Given the description of an element on the screen output the (x, y) to click on. 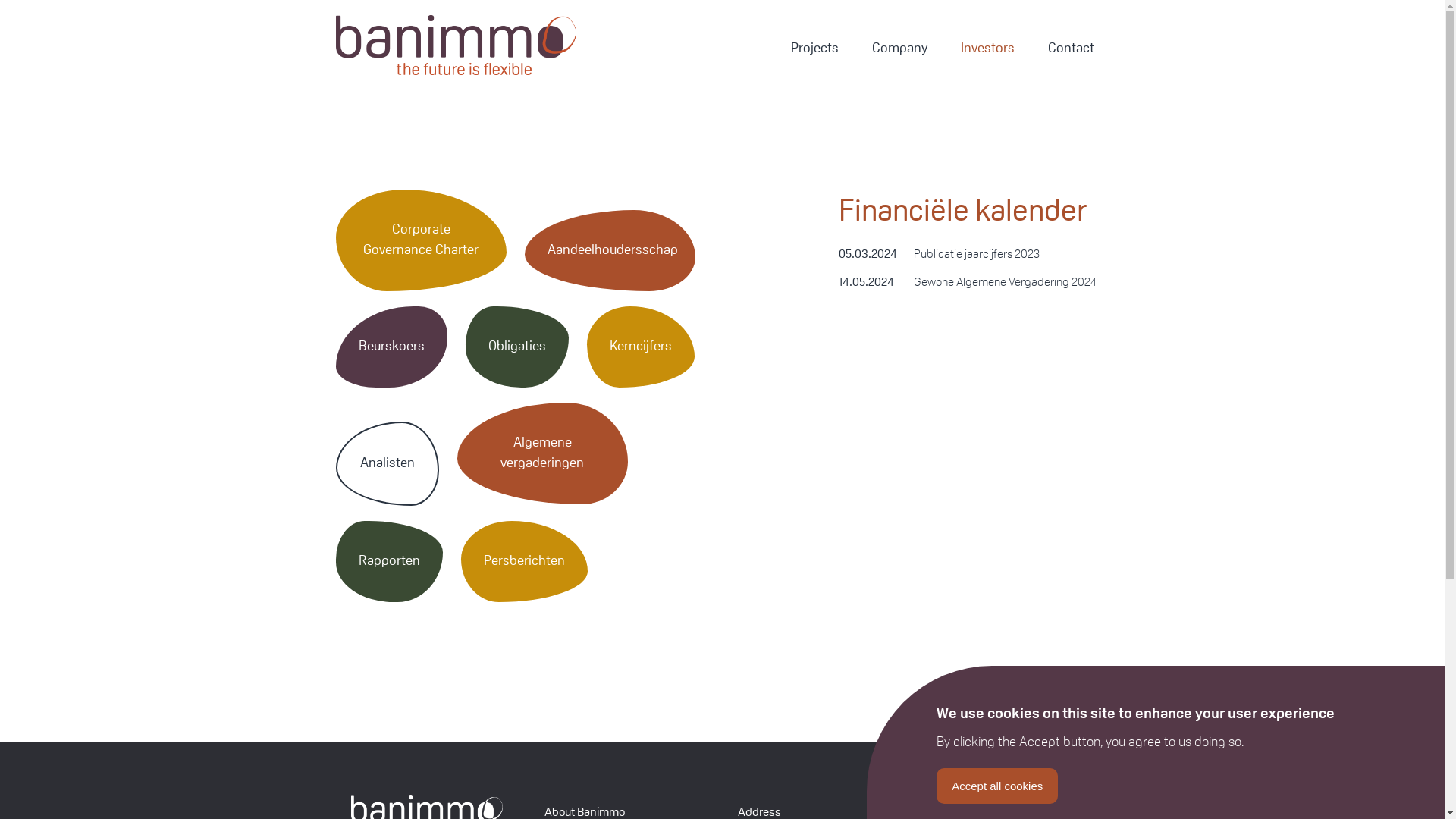
Algemene vergaderingen Element type: text (541, 453)
Rapporten Element type: text (388, 561)
Home Element type: hover (489, 48)
Corporate Governance Charter Element type: text (420, 240)
Accept all cookies Element type: text (996, 785)
Aandeelhoudersschap Element type: text (609, 250)
Skip to main content Element type: text (0, 0)
Beurskoers Element type: text (390, 346)
Obligaties Element type: text (516, 346)
Contact Element type: text (1071, 47)
Projects Element type: text (813, 47)
Withdraw consent Element type: text (1117, 775)
Persberichten Element type: text (524, 561)
Analisten Element type: text (386, 463)
Investors Element type: text (986, 47)
Kerncijfers Element type: text (640, 346)
Company Element type: text (899, 47)
